Given the description of an element on the screen output the (x, y) to click on. 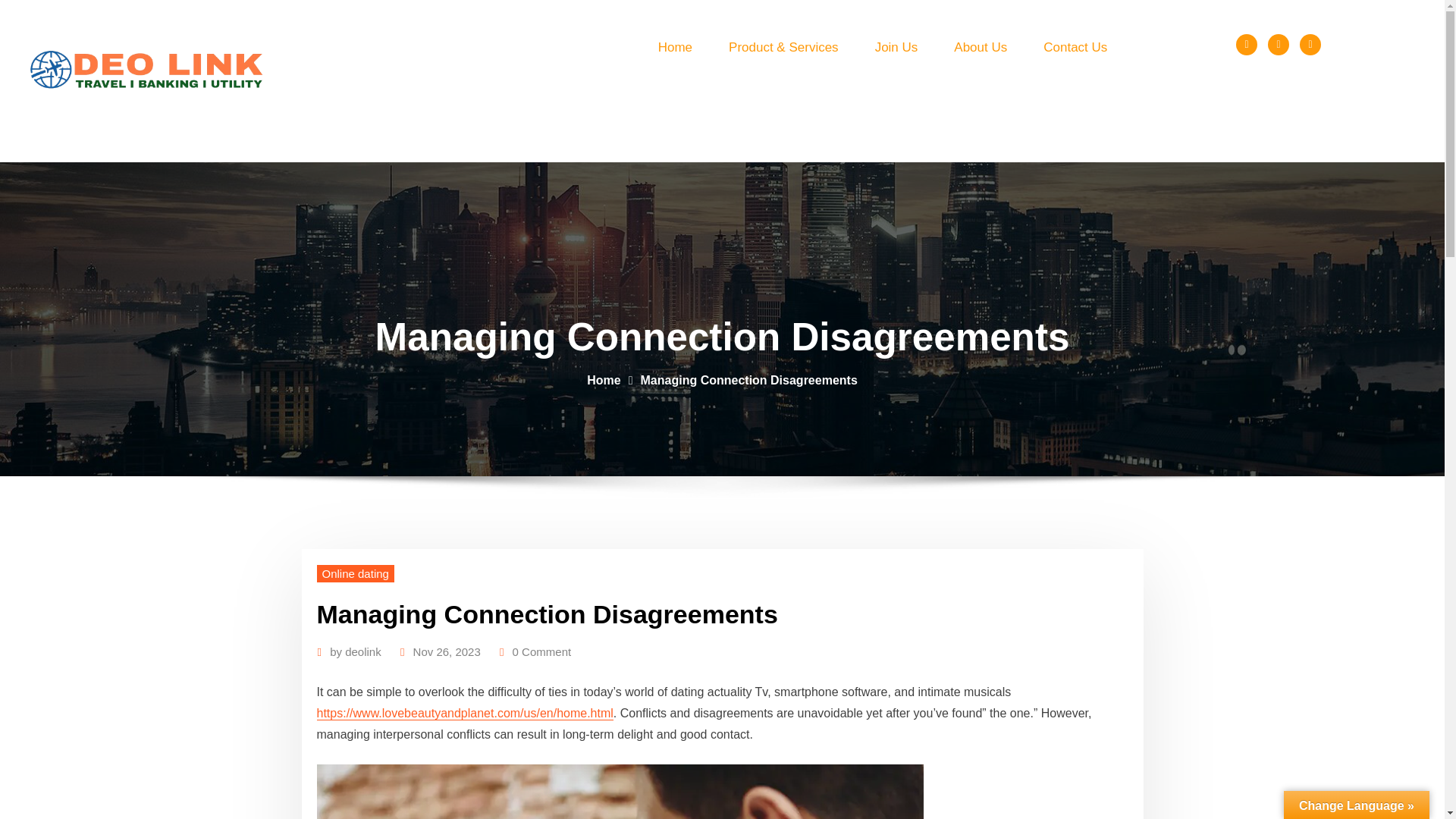
Online dating (355, 573)
Contact Us (1074, 47)
Home (603, 379)
Join Us (896, 47)
About Us (980, 47)
Nov 26, 2023 (446, 651)
0 Comment (542, 651)
by deolink (355, 651)
Home (675, 47)
Managing Connection Disagreements (748, 379)
